Given the description of an element on the screen output the (x, y) to click on. 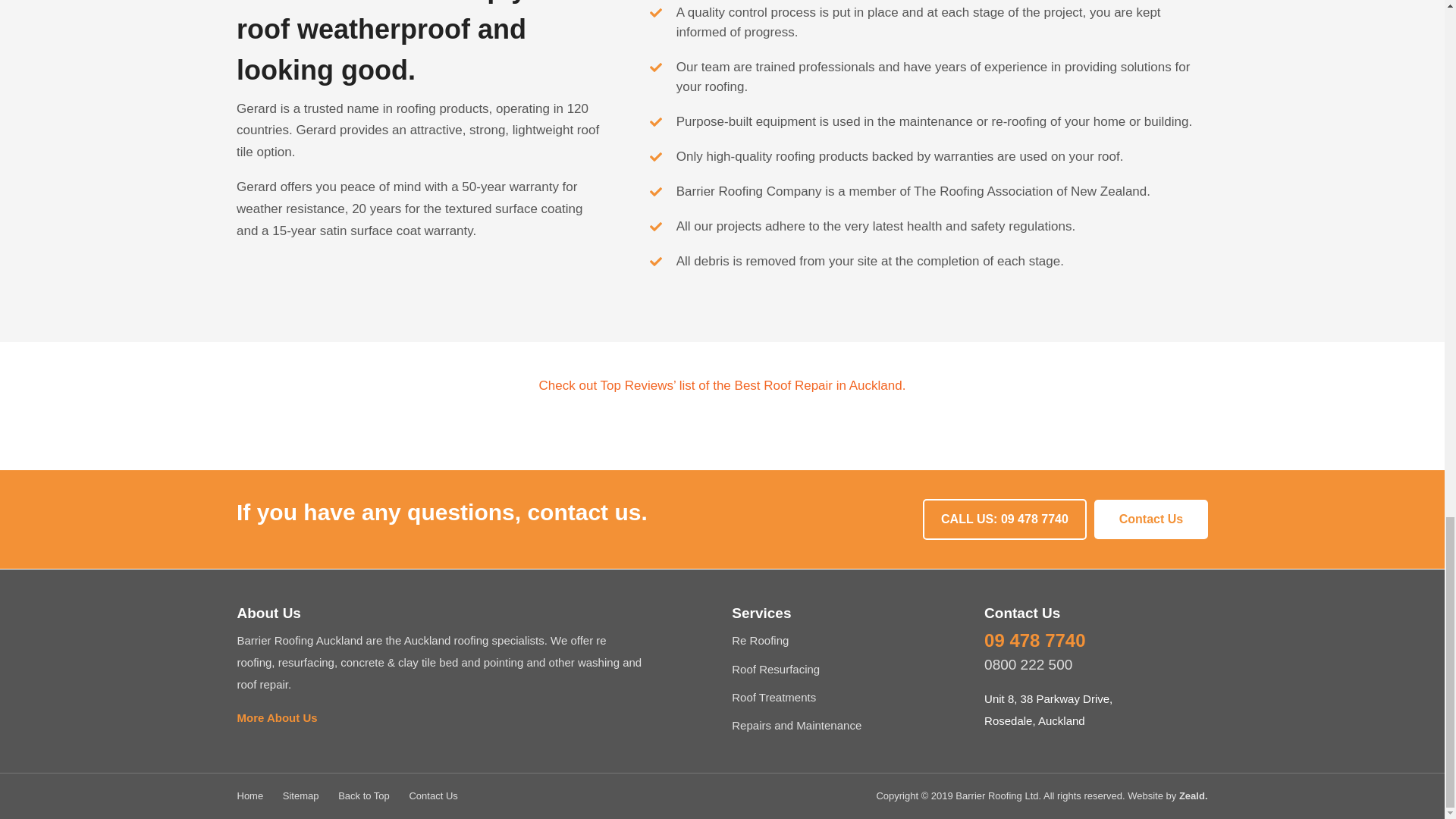
Home (249, 795)
0800 222 500 (1027, 665)
CALL US: 09 478 7740 (1004, 518)
Repairs and Maintenance (796, 725)
Re Roofing (760, 640)
Sitemap (300, 795)
More About Us (276, 717)
Roof Resurfacing (775, 668)
Contact Us (1151, 518)
09 478 7740 (1034, 642)
